Given the description of an element on the screen output the (x, y) to click on. 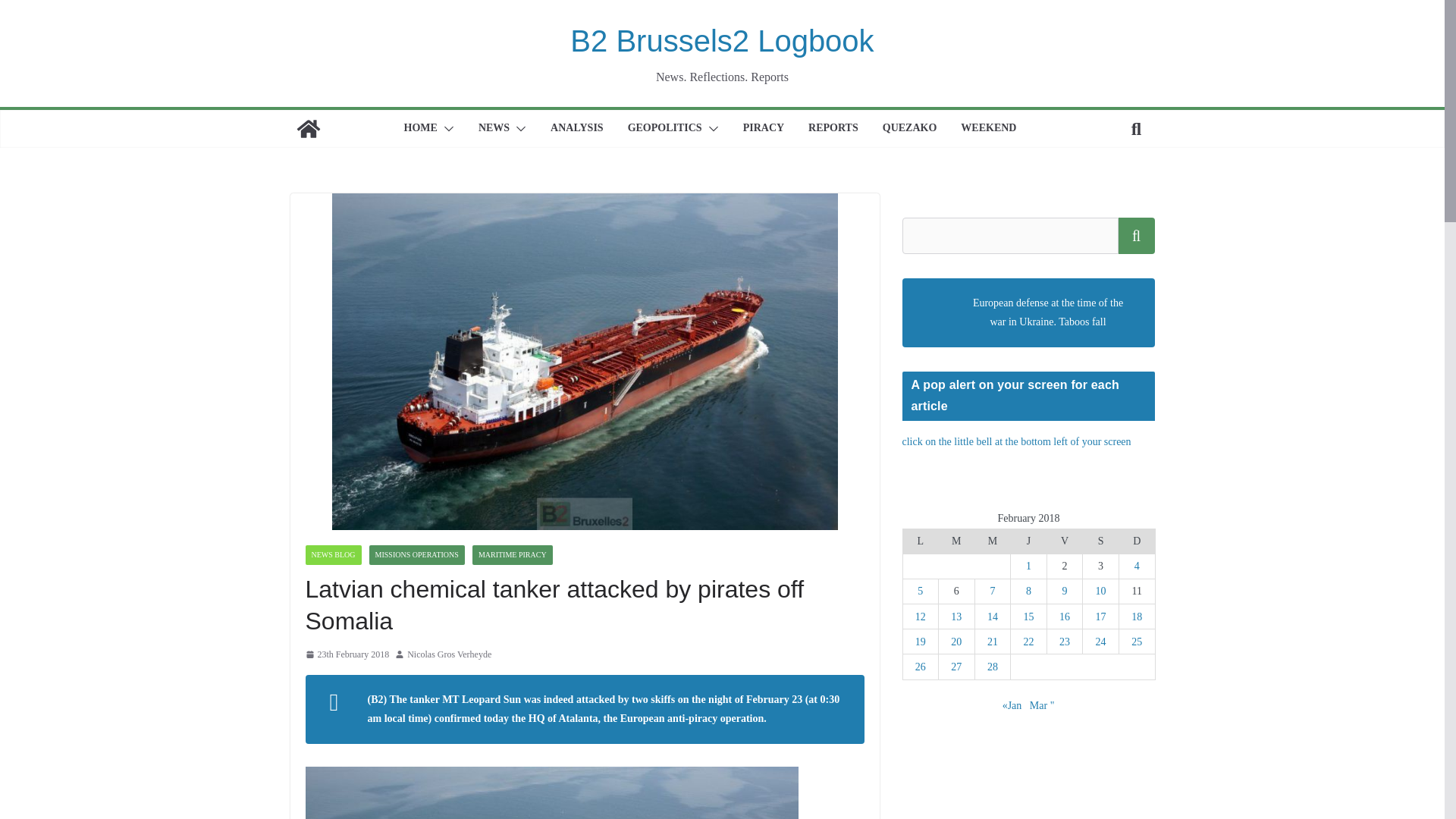
B2 Brussels2 Logbook (721, 40)
B2 Brussels2 Logbook (307, 128)
HOME (421, 128)
NEWS (494, 128)
B2's online encyclopedia on geopolitical Europe (909, 128)
B2 Brussels2 Logbook (721, 40)
20:15 (346, 655)
Nicolas Gros Verheyde (449, 655)
